Given the description of an element on the screen output the (x, y) to click on. 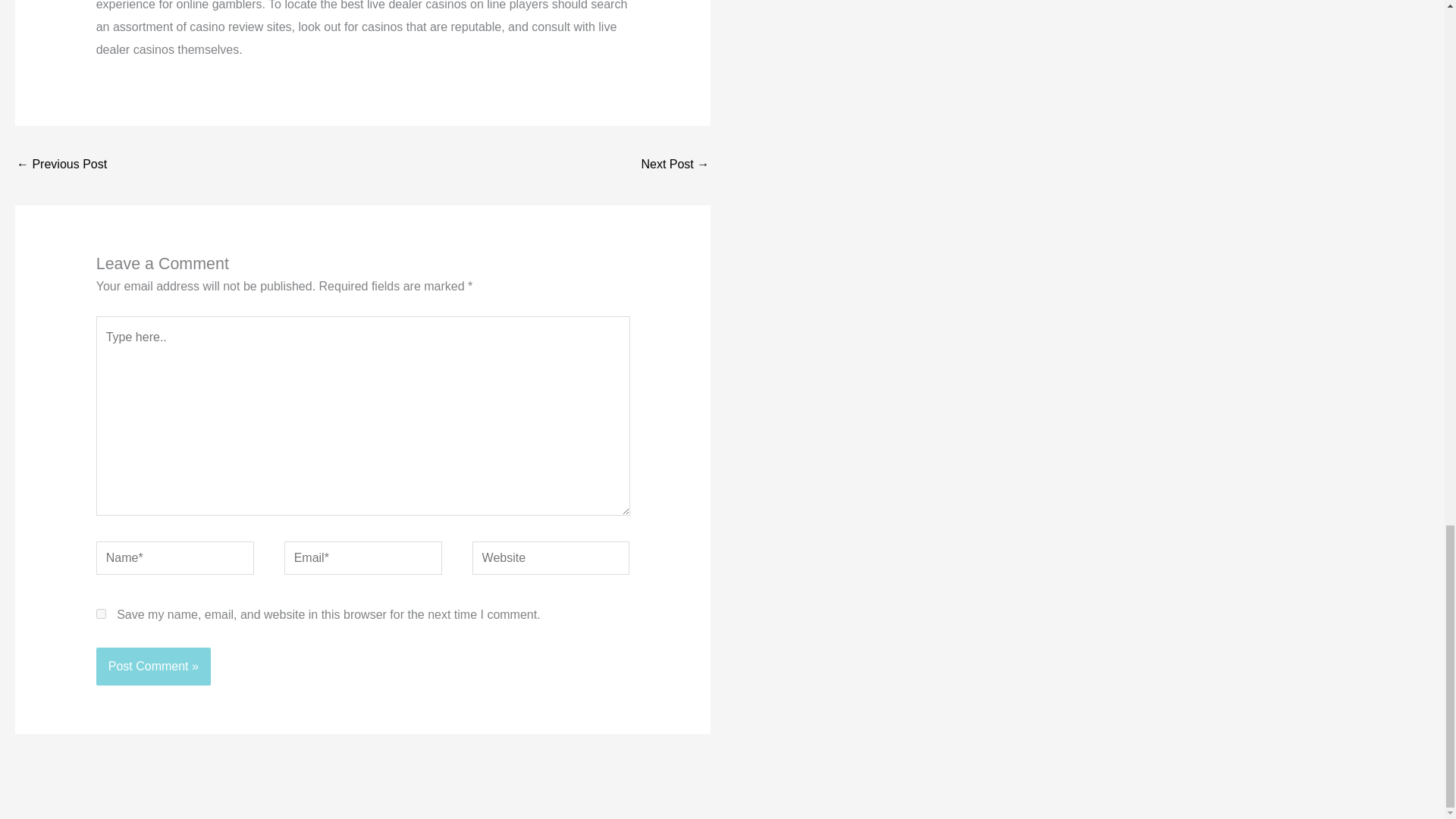
How to Write an Essay Next Day (61, 165)
yes (101, 614)
